Given the description of an element on the screen output the (x, y) to click on. 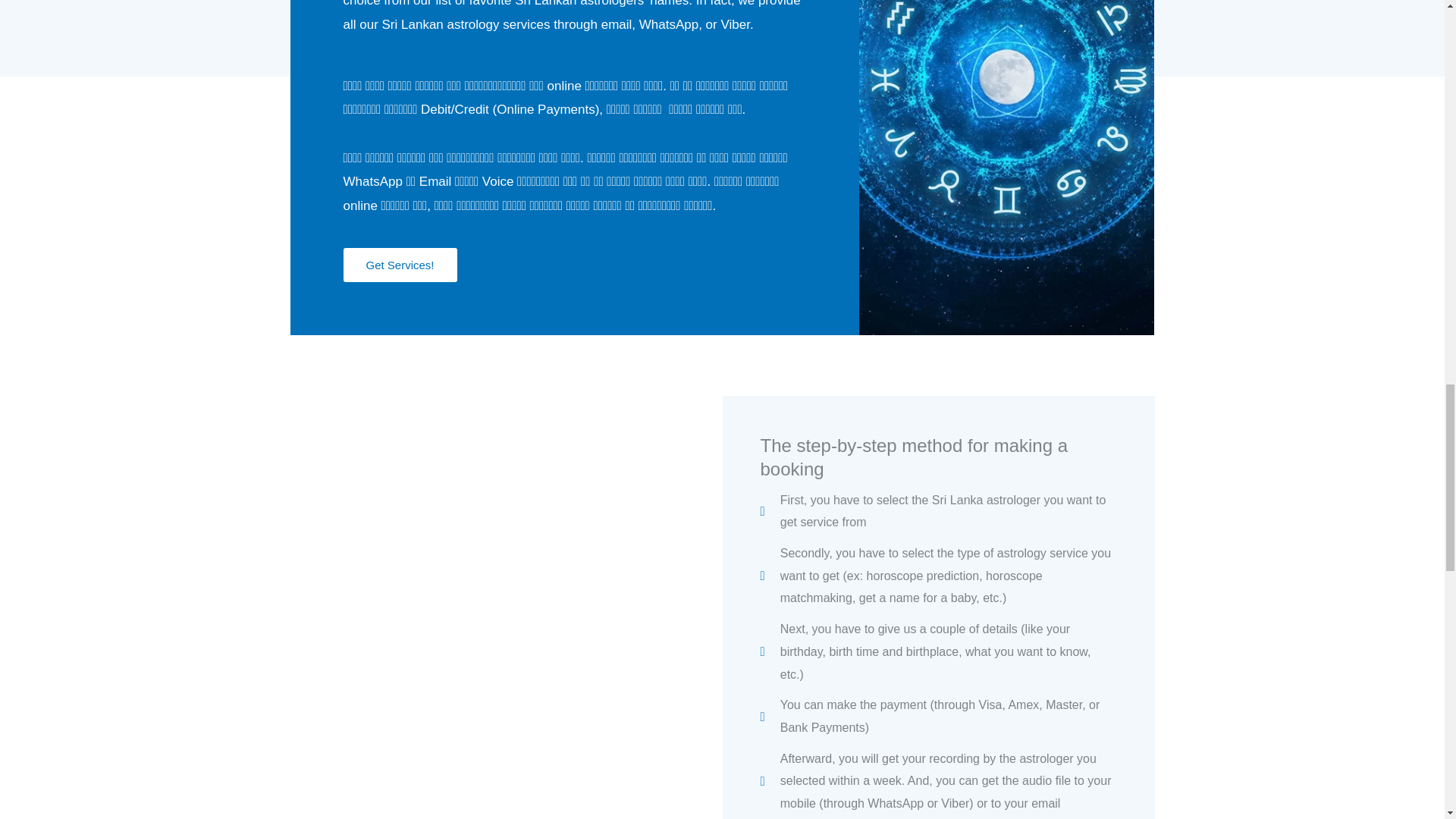
Get Services! (399, 264)
